Given the description of an element on the screen output the (x, y) to click on. 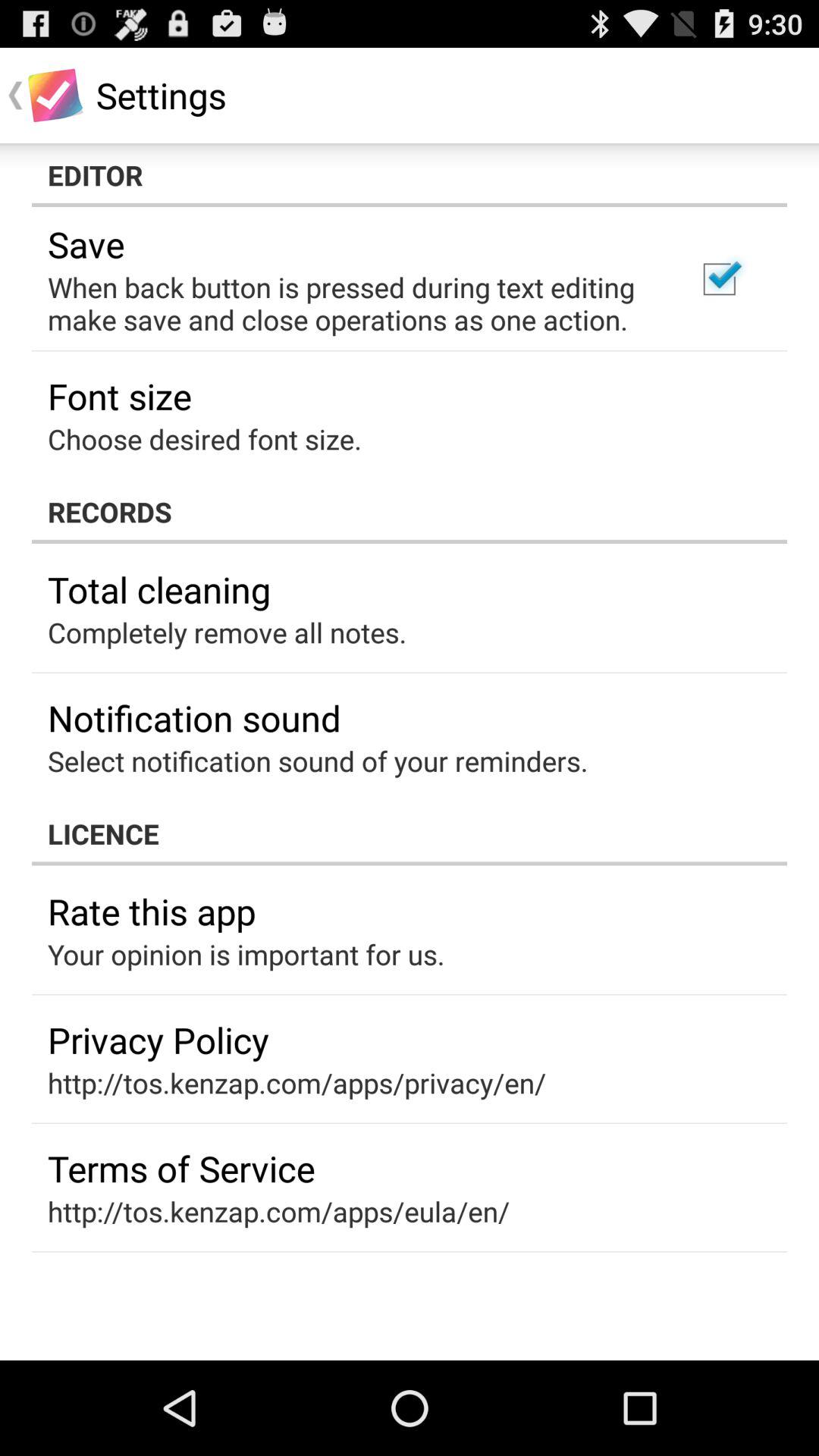
press item above http tos kenzap item (181, 1168)
